Given the description of an element on the screen output the (x, y) to click on. 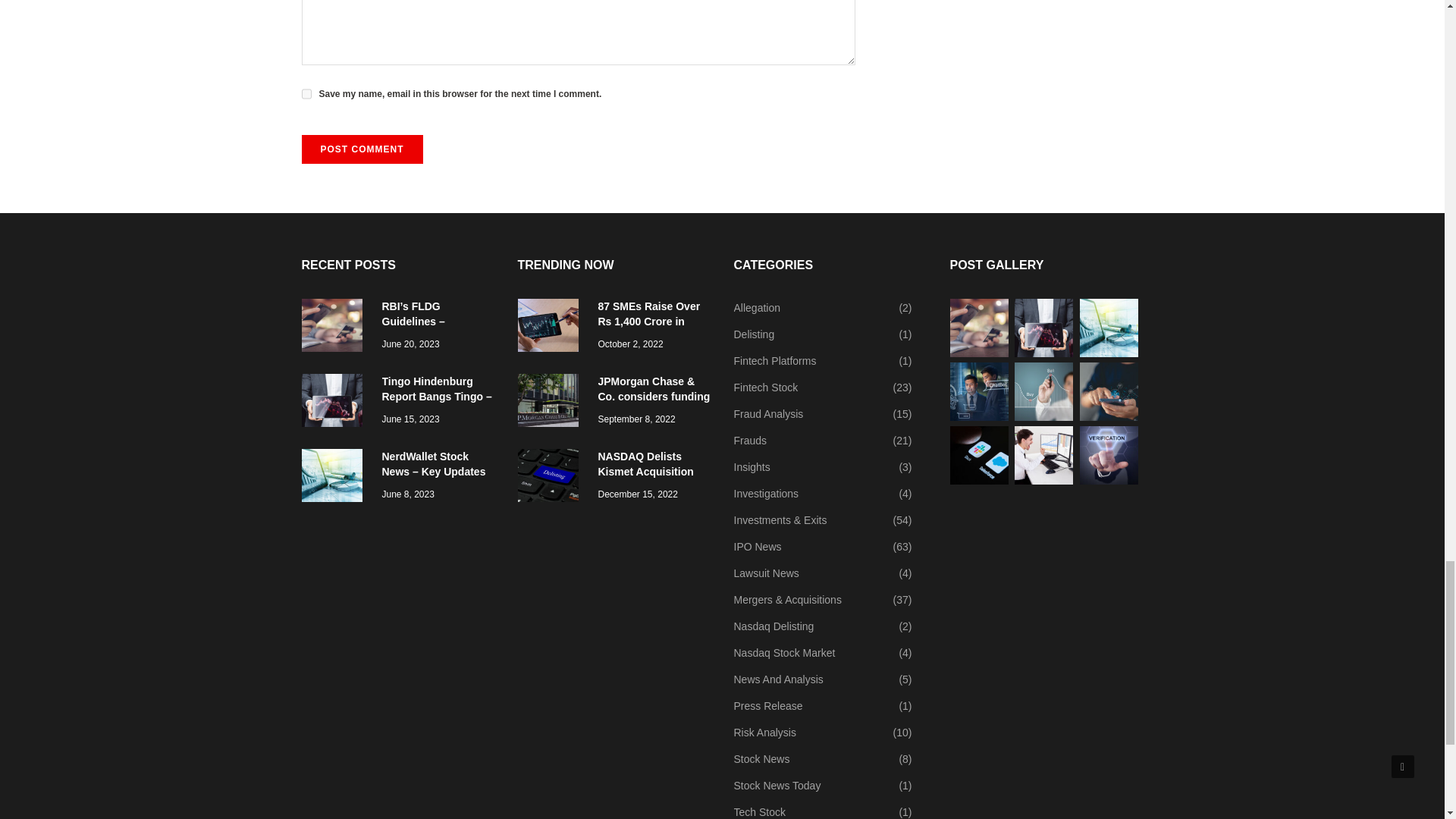
Post Comment (362, 149)
